Given the description of an element on the screen output the (x, y) to click on. 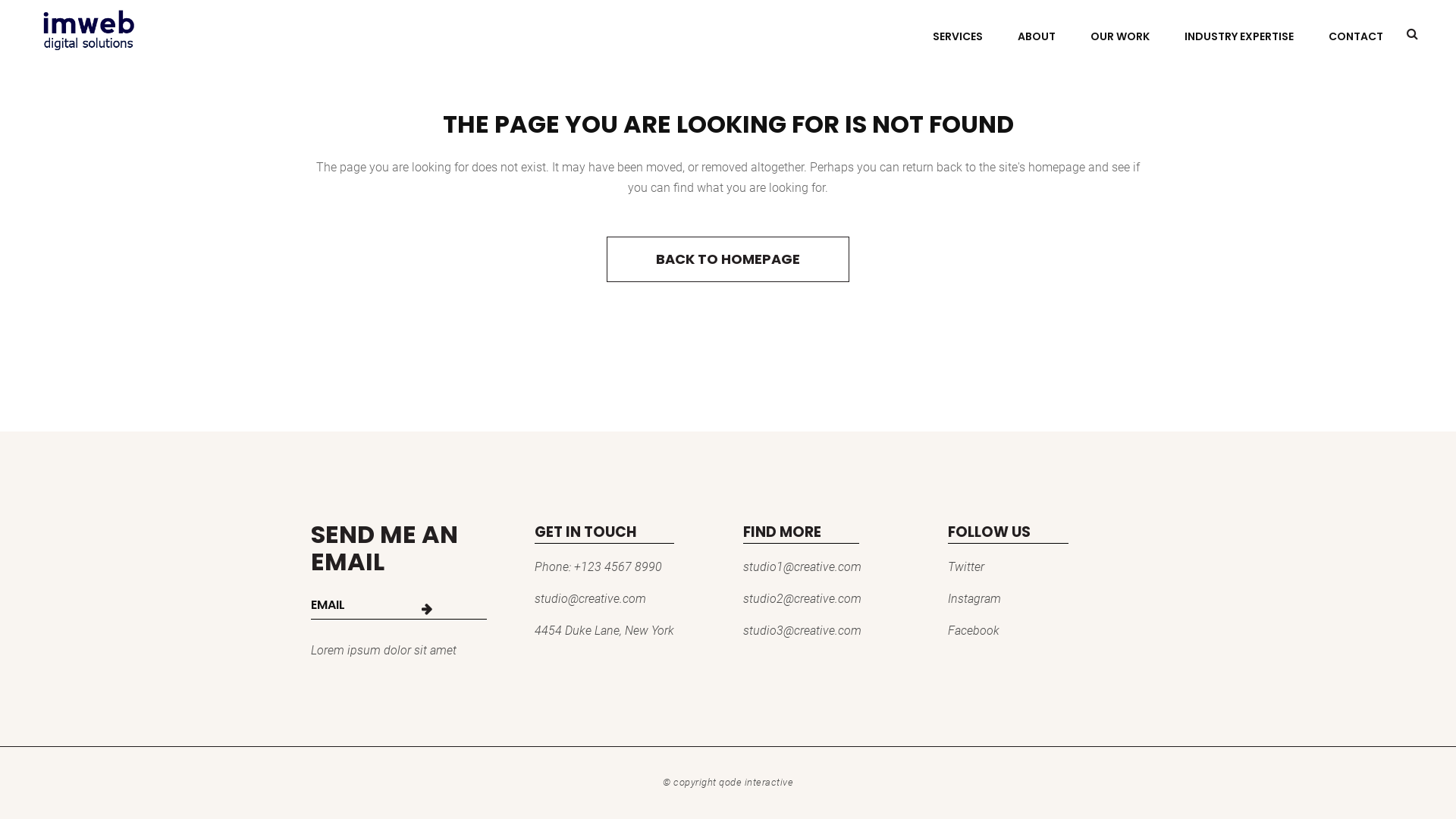
BACK TO HOMEPAGE Element type: text (727, 259)
SERVICES Element type: text (957, 36)
INDUSTRY EXPERTISE Element type: text (1239, 36)
Facebook Element type: text (973, 630)
4454 Duke Lane, New York Element type: text (604, 630)
studio3@creative.com Element type: text (802, 630)
studio2@creative.com Element type: text (802, 598)
qode interactive Element type: text (755, 781)
Instagram Element type: text (974, 598)
CONTACT Element type: text (1355, 36)
studio1@creative.com Element type: text (802, 566)
+123 4567 8990 Element type: text (616, 566)
Twitter Element type: text (965, 566)
studio@creative.com Element type: text (590, 598)
FOLLOW US Element type: text (1046, 535)
ABOUT Element type: text (1036, 36)
OUR WORK Element type: text (1120, 36)
